Given the description of an element on the screen output the (x, y) to click on. 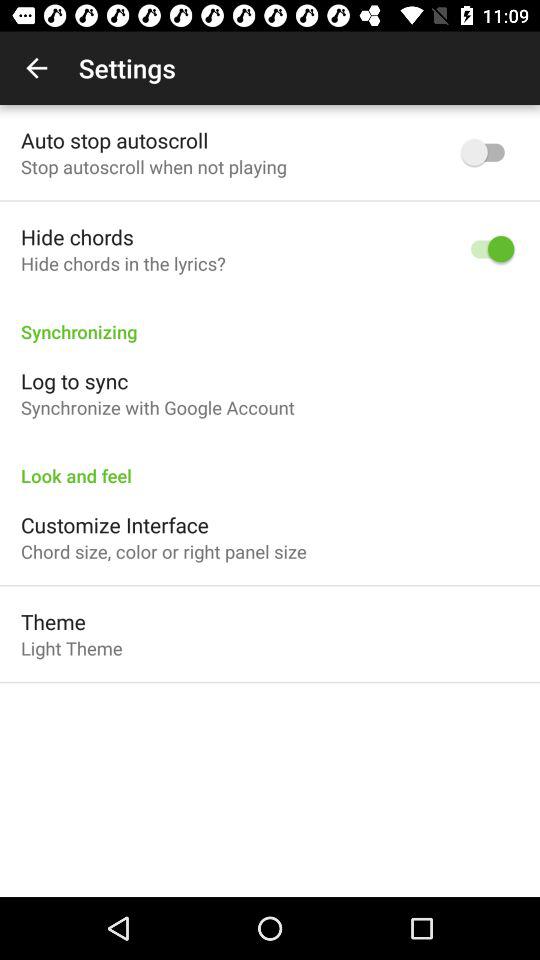
click the item above auto stop autoscroll icon (36, 68)
